Given the description of an element on the screen output the (x, y) to click on. 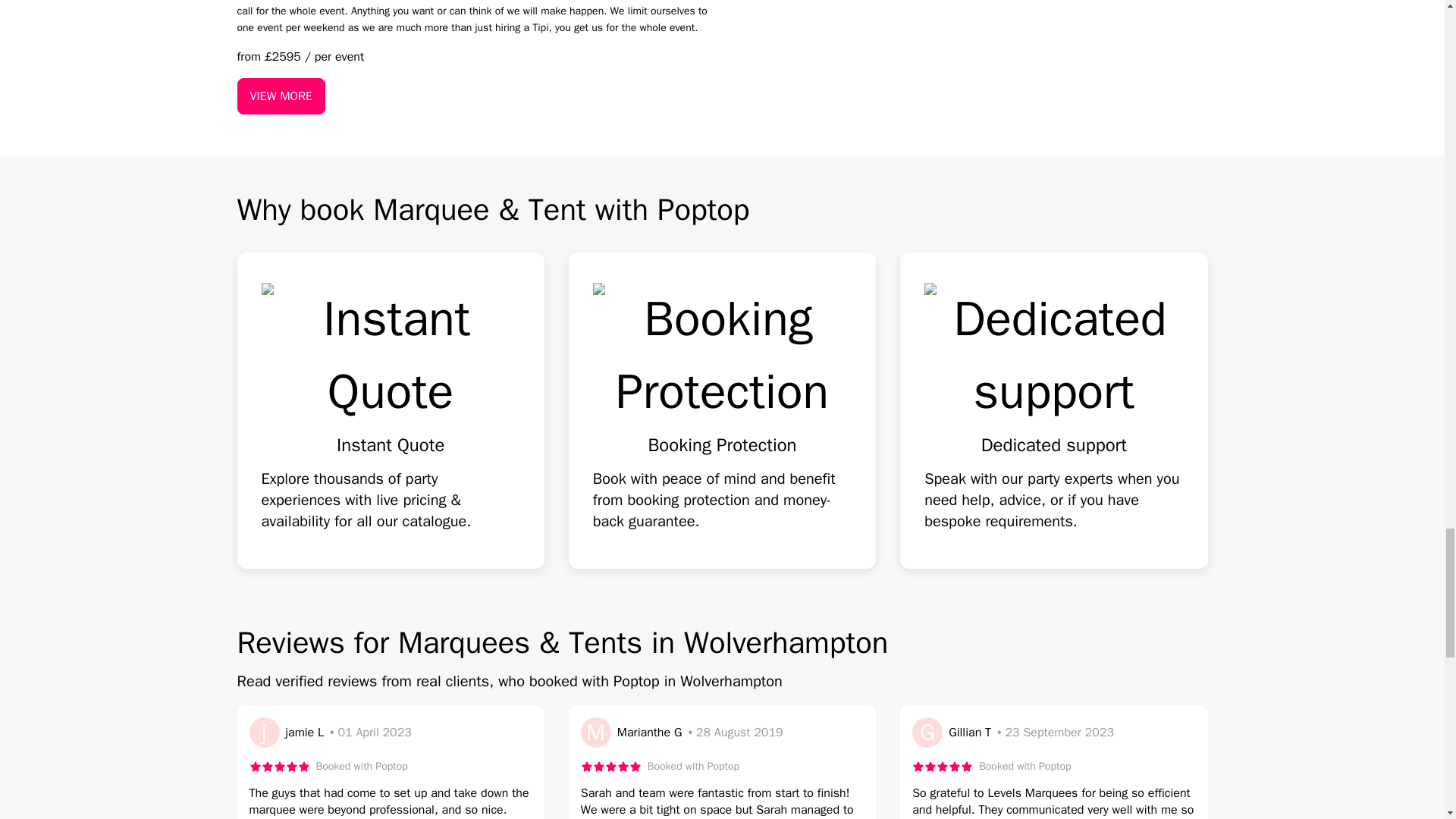
VIEW MORE (279, 95)
